Given the description of an element on the screen output the (x, y) to click on. 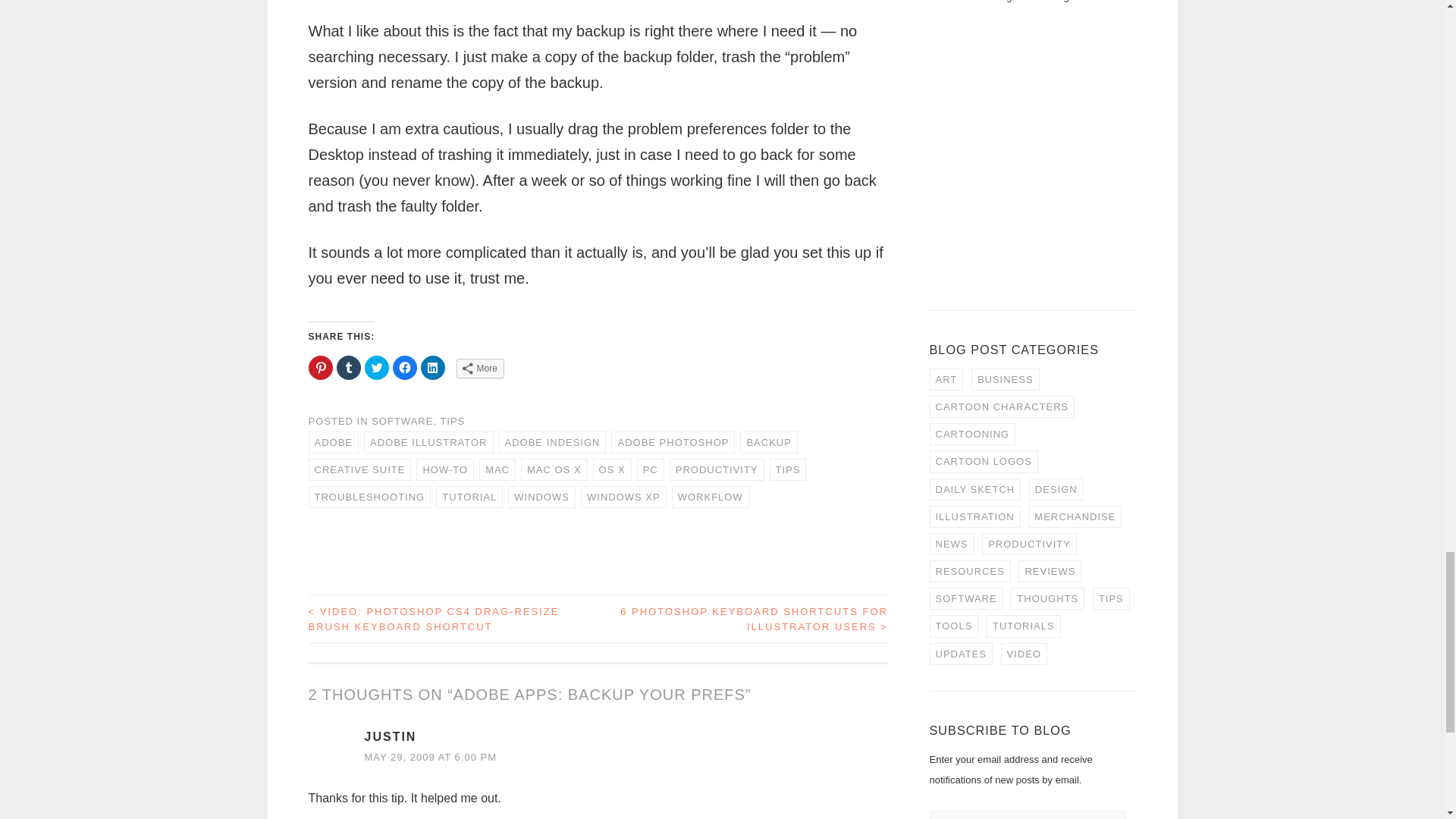
More (480, 368)
ADOBE PHOTOSHOP (673, 442)
PC (650, 469)
Click to share on Twitter (376, 367)
ADOBE (332, 442)
SOFTWARE (401, 420)
OS X (611, 469)
HOW-TO (445, 469)
Click to share on Pinterest (319, 367)
ADOBE ILLUSTRATOR (428, 442)
